Given the description of an element on the screen output the (x, y) to click on. 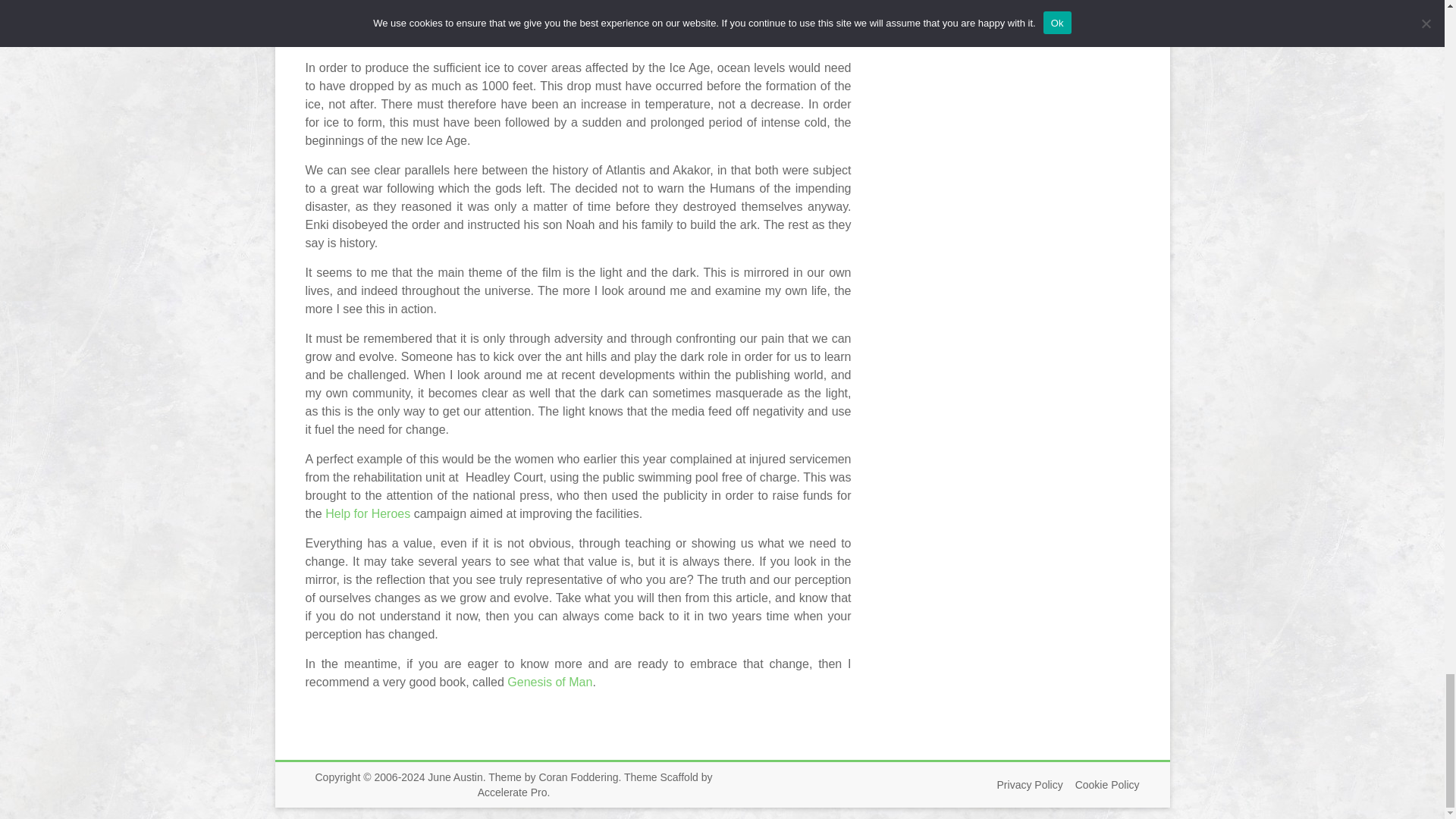
June Austin (454, 776)
Genesis of Man (549, 681)
Genesis of Man (549, 681)
Privacy Policy (1023, 785)
Coran Foddering (577, 776)
Help for Heroes (367, 513)
June Austin (454, 776)
Cookie Policy (1101, 785)
Accelerate Pro (512, 792)
Accelerate Pro (512, 792)
Coran Foddering (577, 776)
Help for Heroes (367, 513)
